Given the description of an element on the screen output the (x, y) to click on. 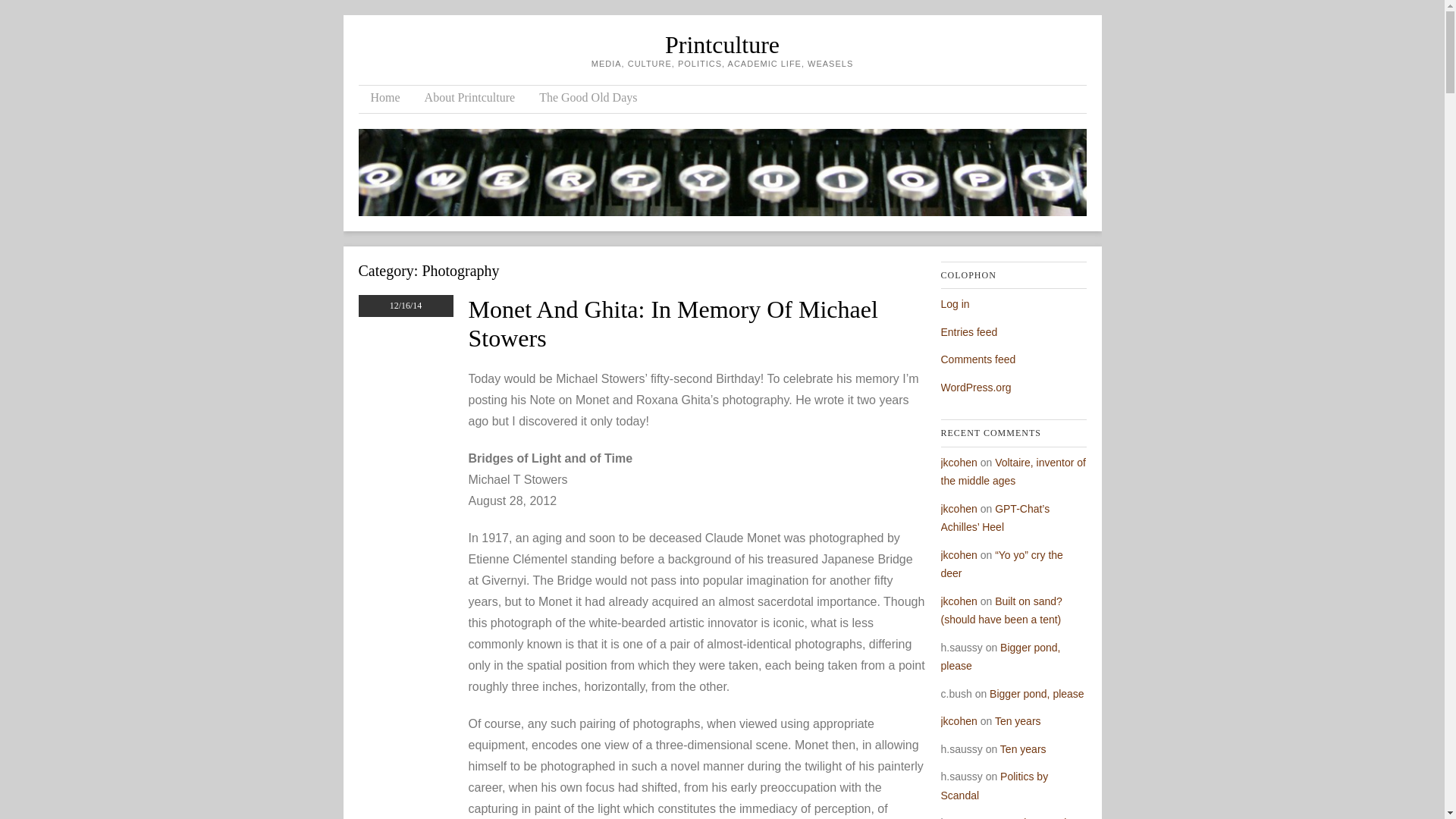
jkcohen (958, 554)
Permalink to Monet and Ghita: In Memory of Michael Stowers (672, 323)
jkcohen (958, 508)
Monet And Ghita: In Memory Of Michael Stowers (672, 323)
Entries feed (968, 331)
Log in (954, 304)
WordPress.org (975, 387)
About Printculture (469, 99)
jkcohen (958, 462)
The Good Old Days (588, 99)
Home (385, 99)
Printculture (721, 44)
Voltaire, inventor of the middle ages (1012, 471)
Comments feed (977, 358)
